Given the description of an element on the screen output the (x, y) to click on. 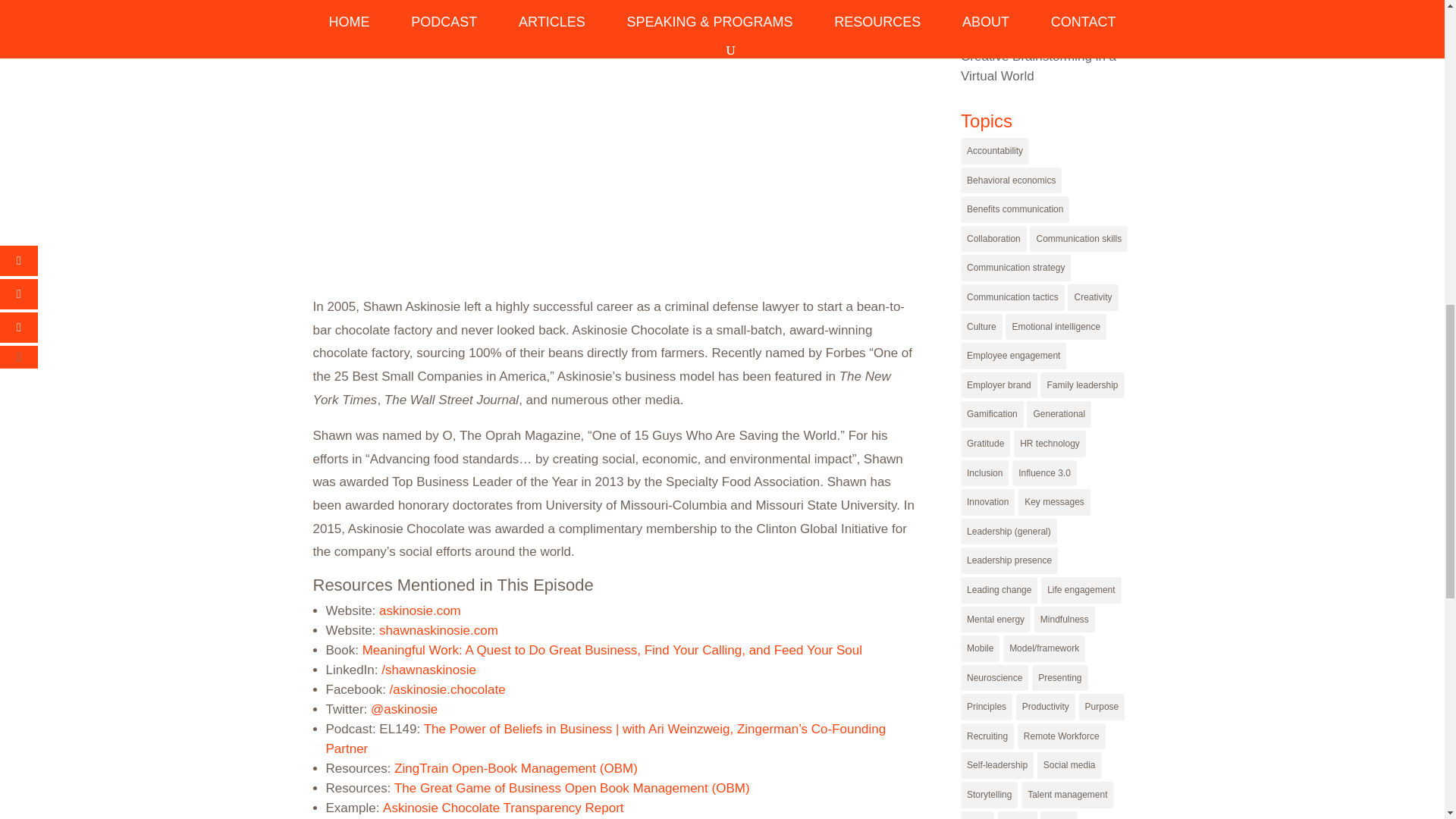
shawnaskinosie.com (437, 630)
Askinosie Chocolate Transparency Report (503, 807)
askinosie.com (419, 610)
